Given the description of an element on the screen output the (x, y) to click on. 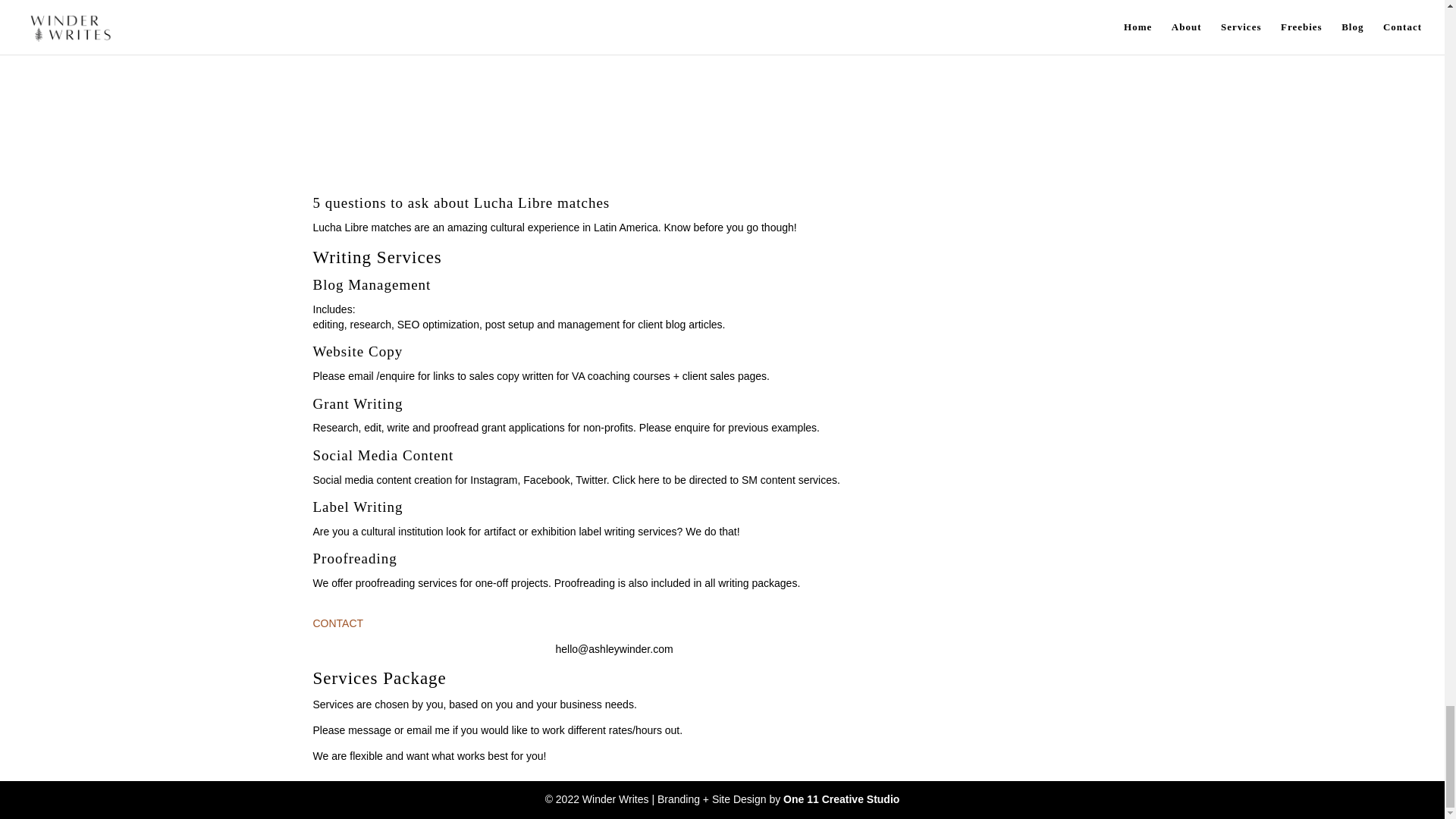
One 11 Creative Studio (841, 799)
5 questions to ask about Lucha Libre matches (461, 202)
CONTACT (337, 630)
